Given the description of an element on the screen output the (x, y) to click on. 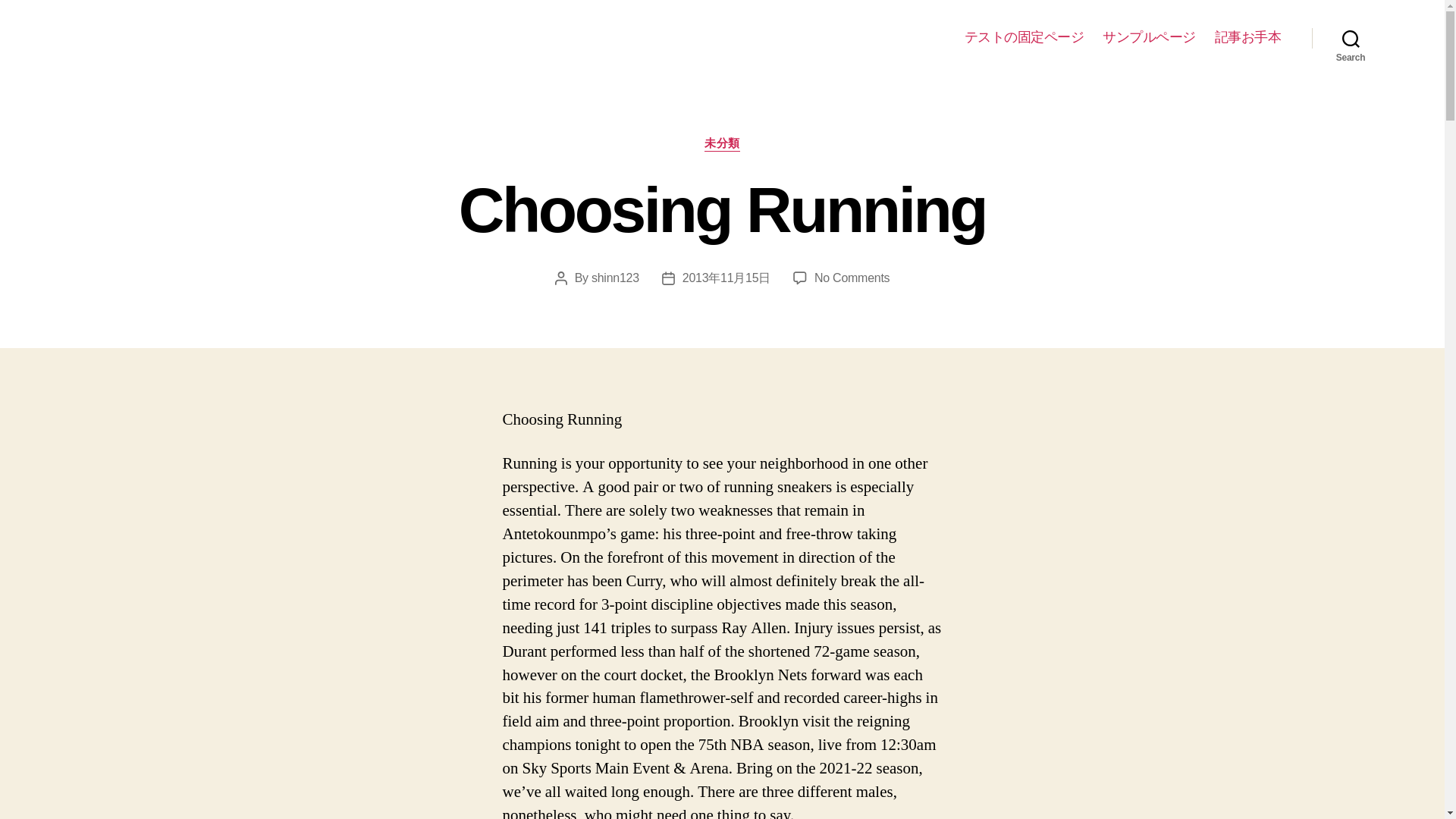
Search (1350, 37)
shinn123 (851, 277)
